Given the description of an element on the screen output the (x, y) to click on. 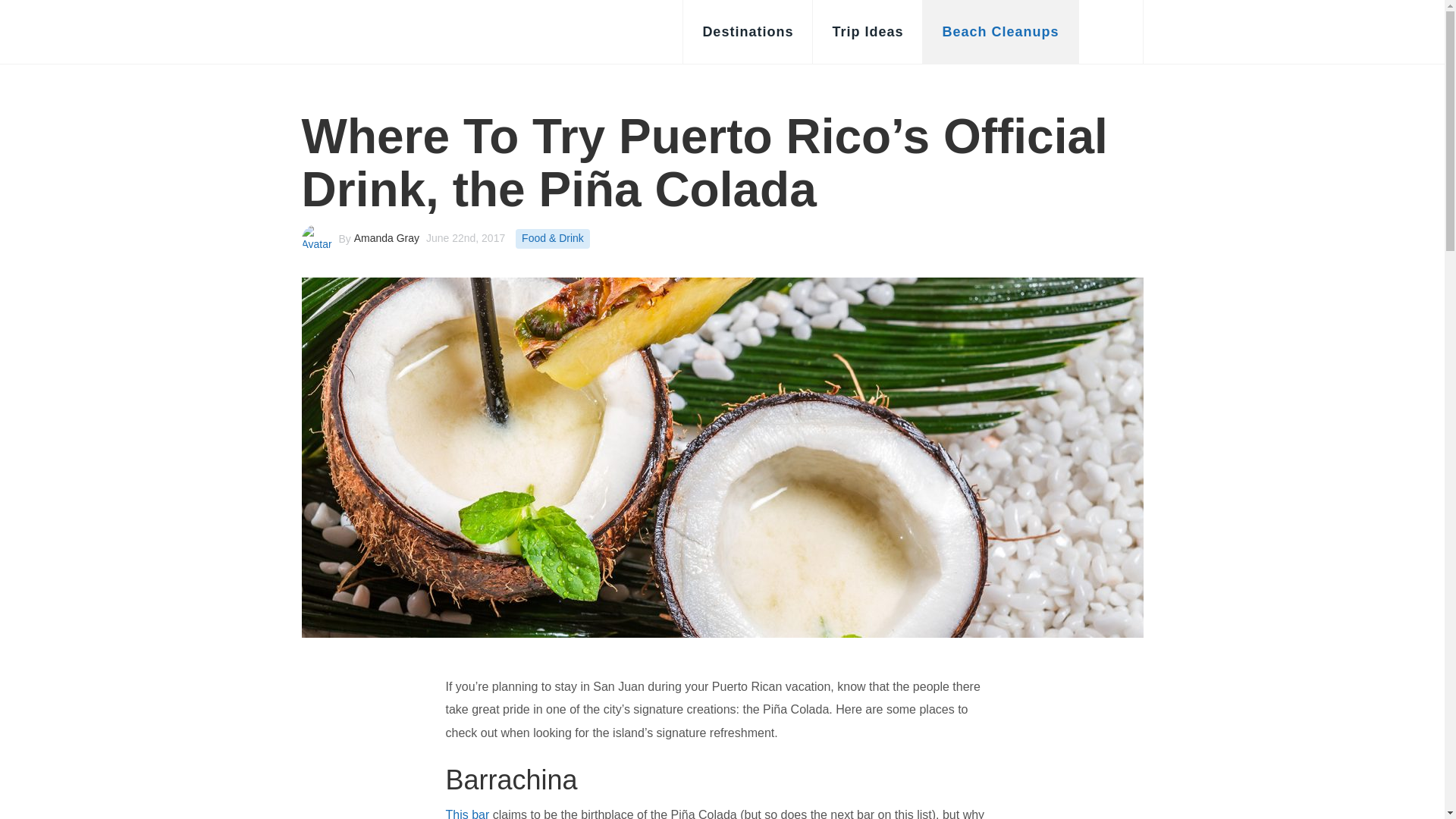
Destinations (747, 31)
Posts by Amanda Gray (386, 237)
